Given the description of an element on the screen output the (x, y) to click on. 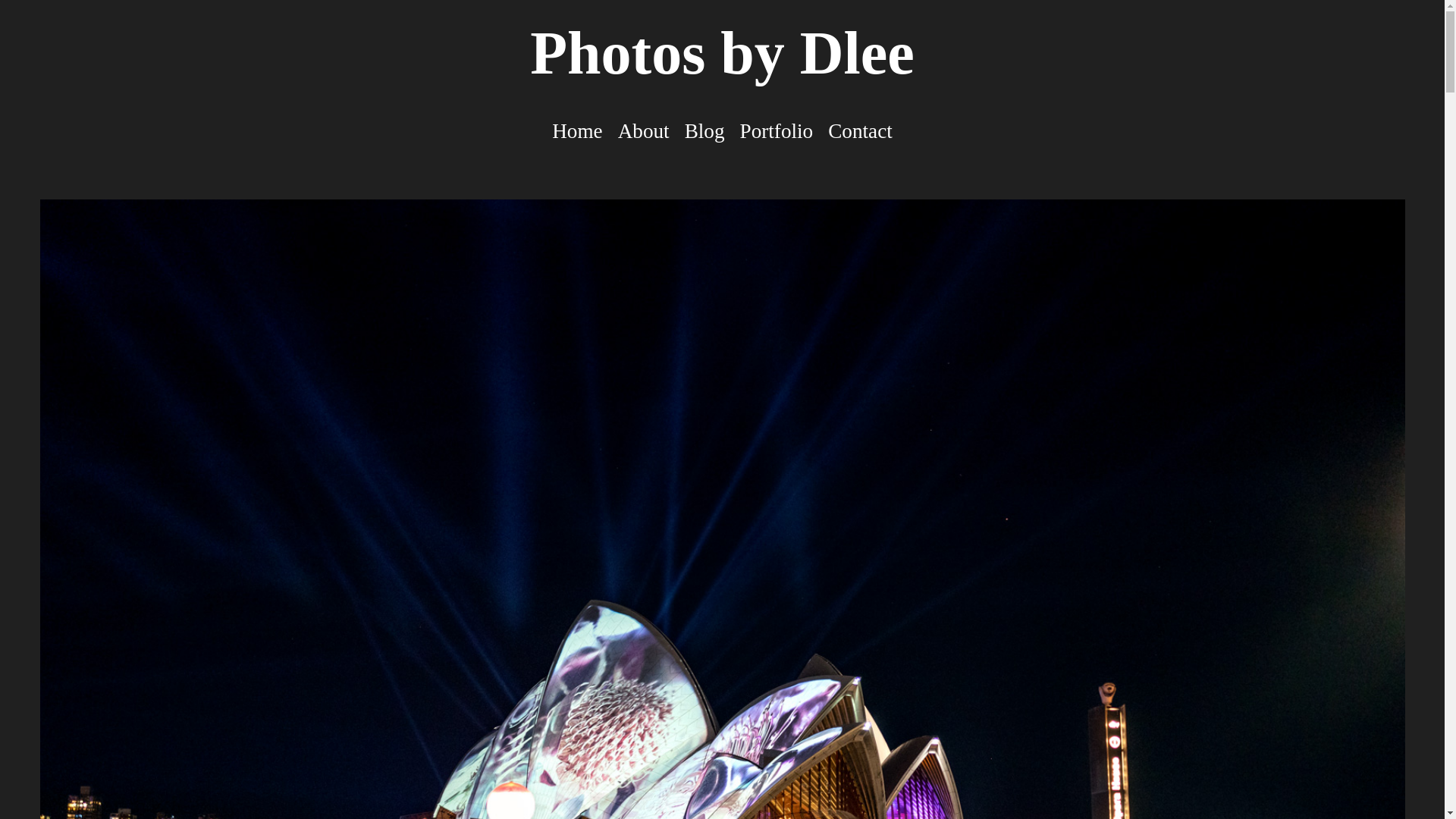
Photos by Dlee (721, 52)
Blog (704, 131)
Portfolio (776, 131)
Home (576, 131)
Contact (860, 131)
About (643, 131)
